Given the description of an element on the screen output the (x, y) to click on. 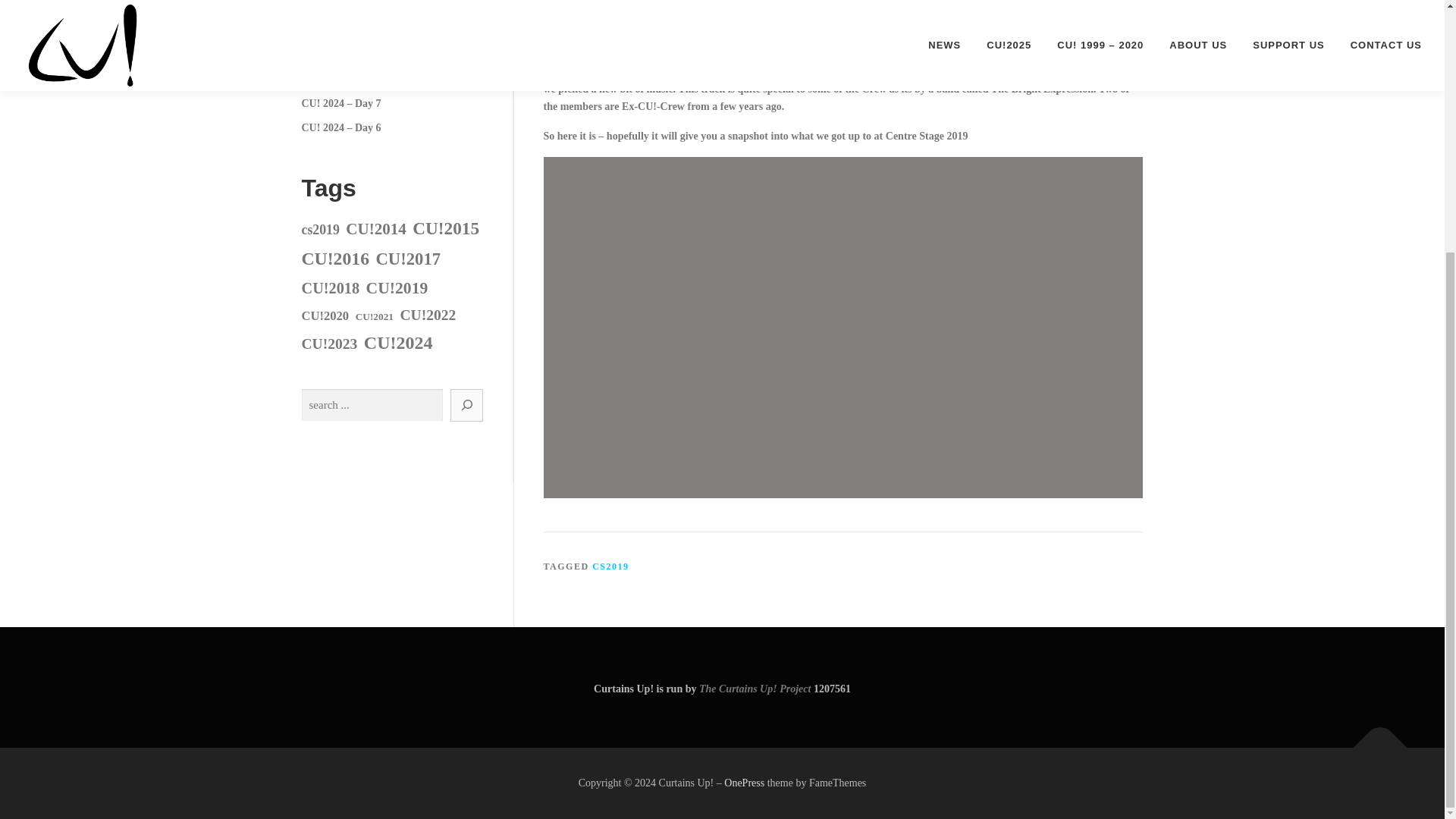
CU!2023 (329, 343)
CU!2017 (408, 259)
OnePress (743, 782)
CU!2014 (376, 229)
The Curtains Up! Project (754, 688)
CU!2024 (398, 342)
Back To Top (1372, 740)
cs2019 (320, 229)
CU!2019 (397, 288)
CU!2020 (325, 315)
